Given the description of an element on the screen output the (x, y) to click on. 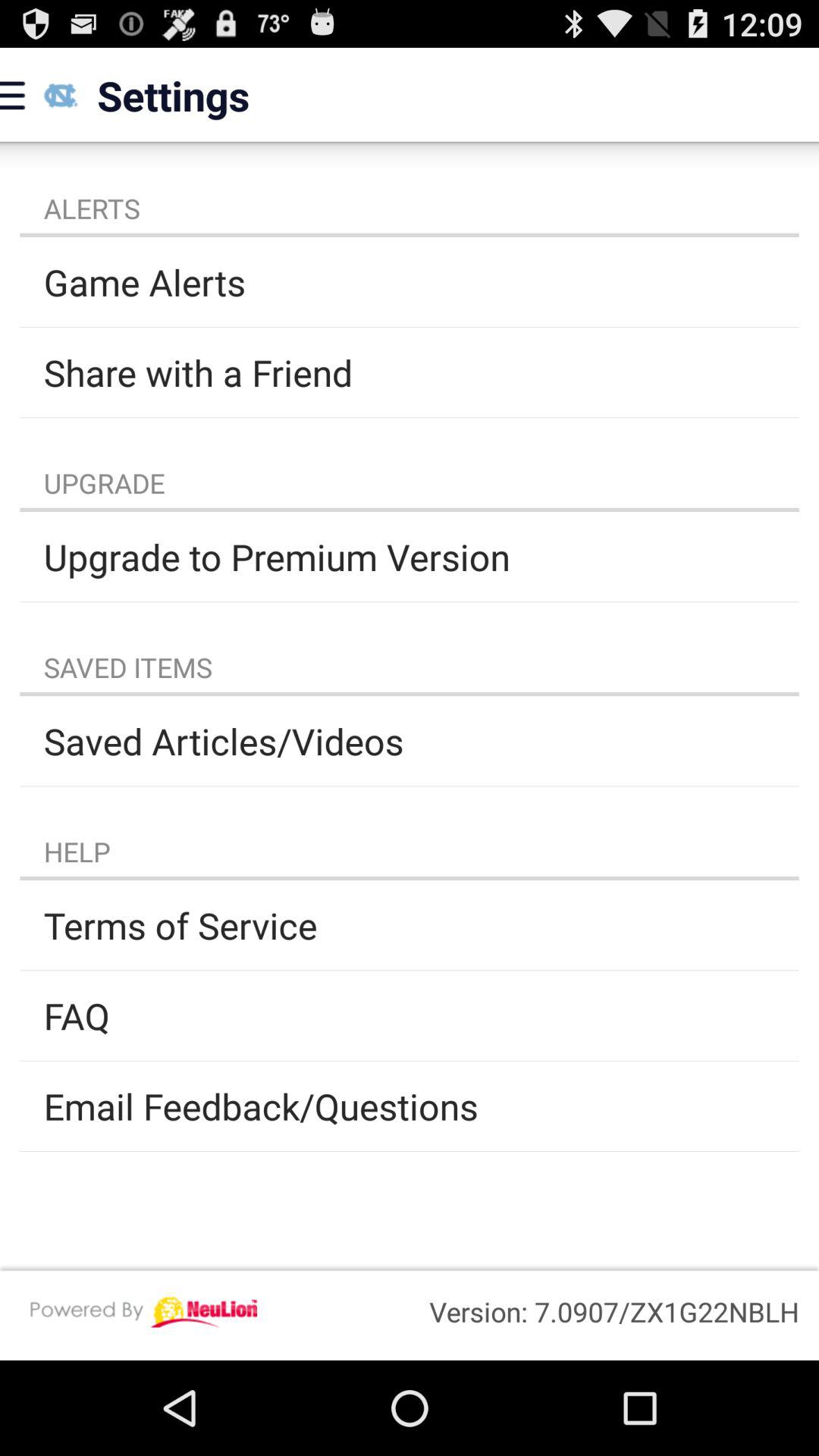
turn off item below the terms of service icon (409, 1015)
